Given the description of an element on the screen output the (x, y) to click on. 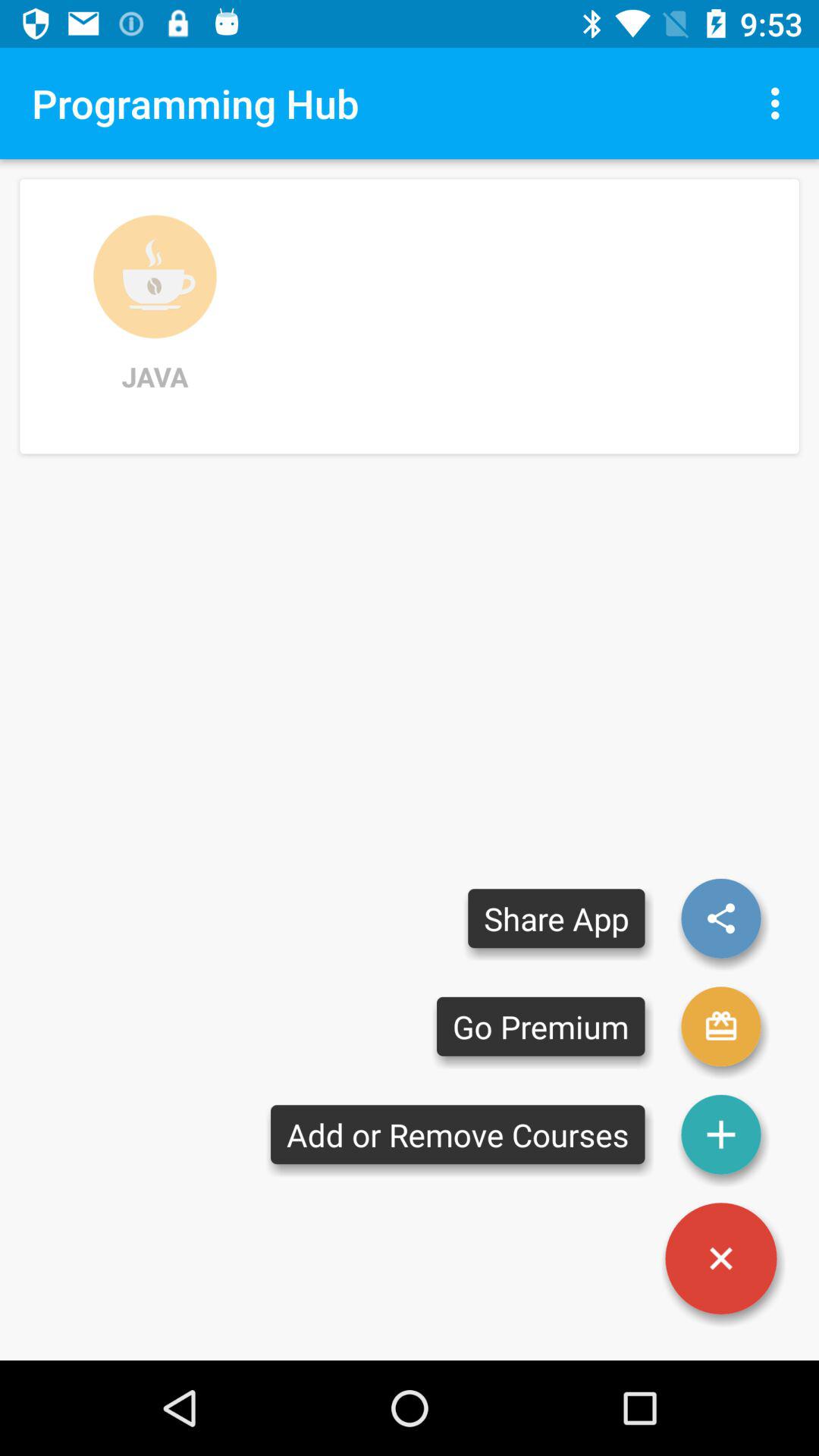
launch icon next to the share app item (721, 918)
